Given the description of an element on the screen output the (x, y) to click on. 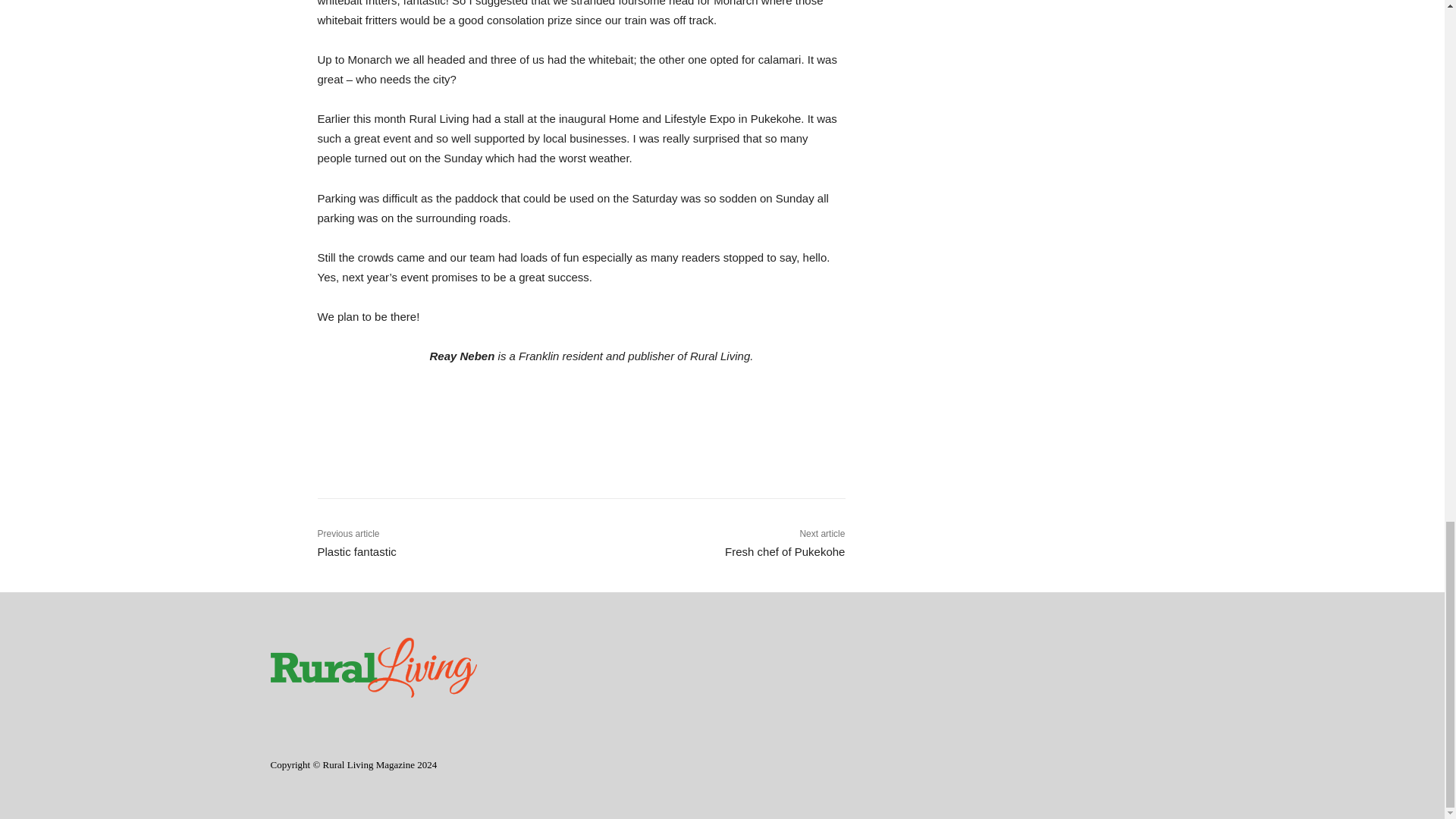
Fresh chef of Pukekohe (784, 551)
Plastic fantastic (356, 551)
